Given the description of an element on the screen output the (x, y) to click on. 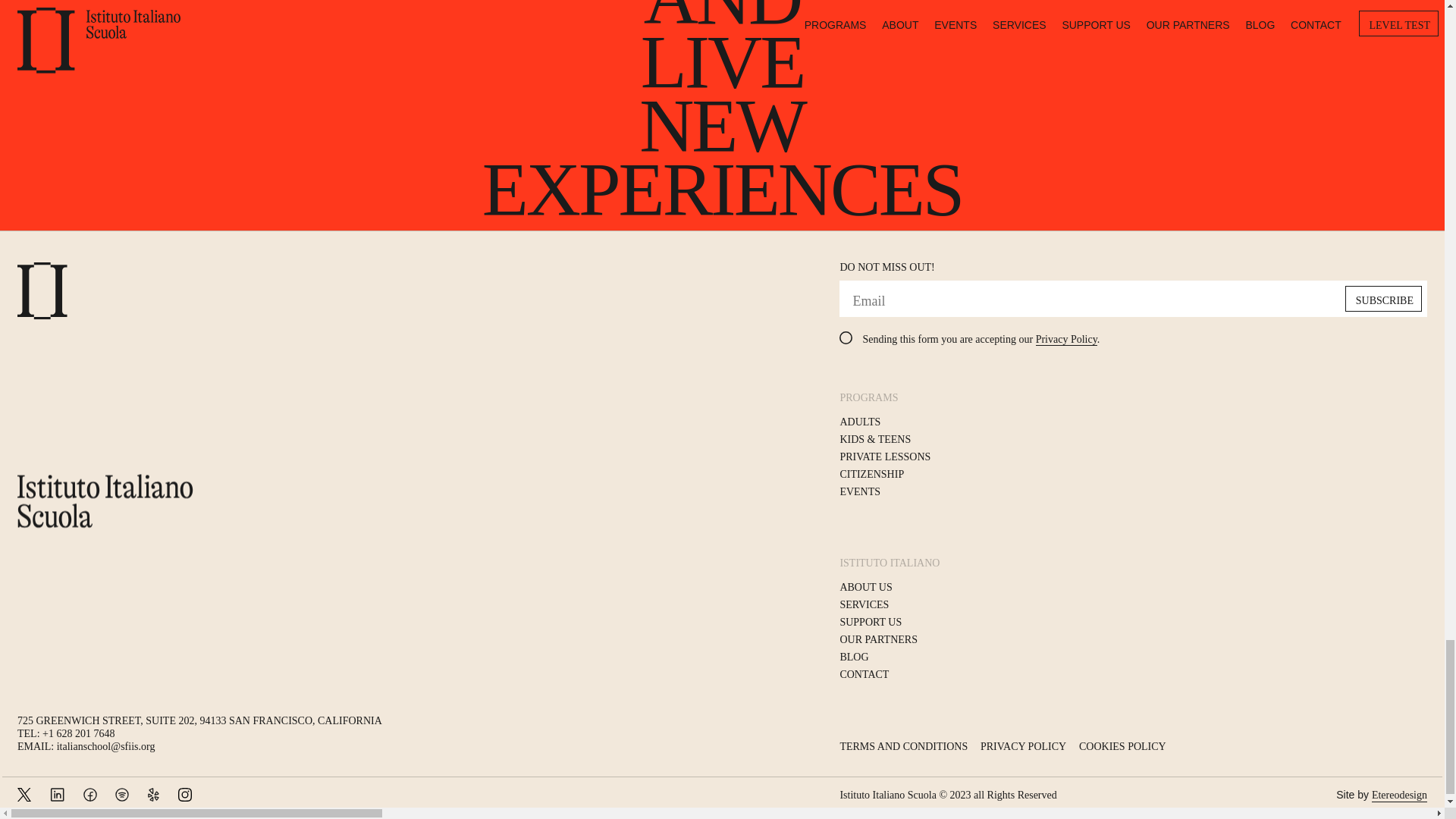
EVENTS (860, 491)
ABOUT US (865, 587)
SUBSCRIBE (1383, 298)
Privacy Policy (1066, 339)
PRIVATE LESSONS (885, 457)
SUBSCRIBE (1383, 298)
ADULTS (860, 421)
CITIZENSHIP (872, 474)
